Given the description of an element on the screen output the (x, y) to click on. 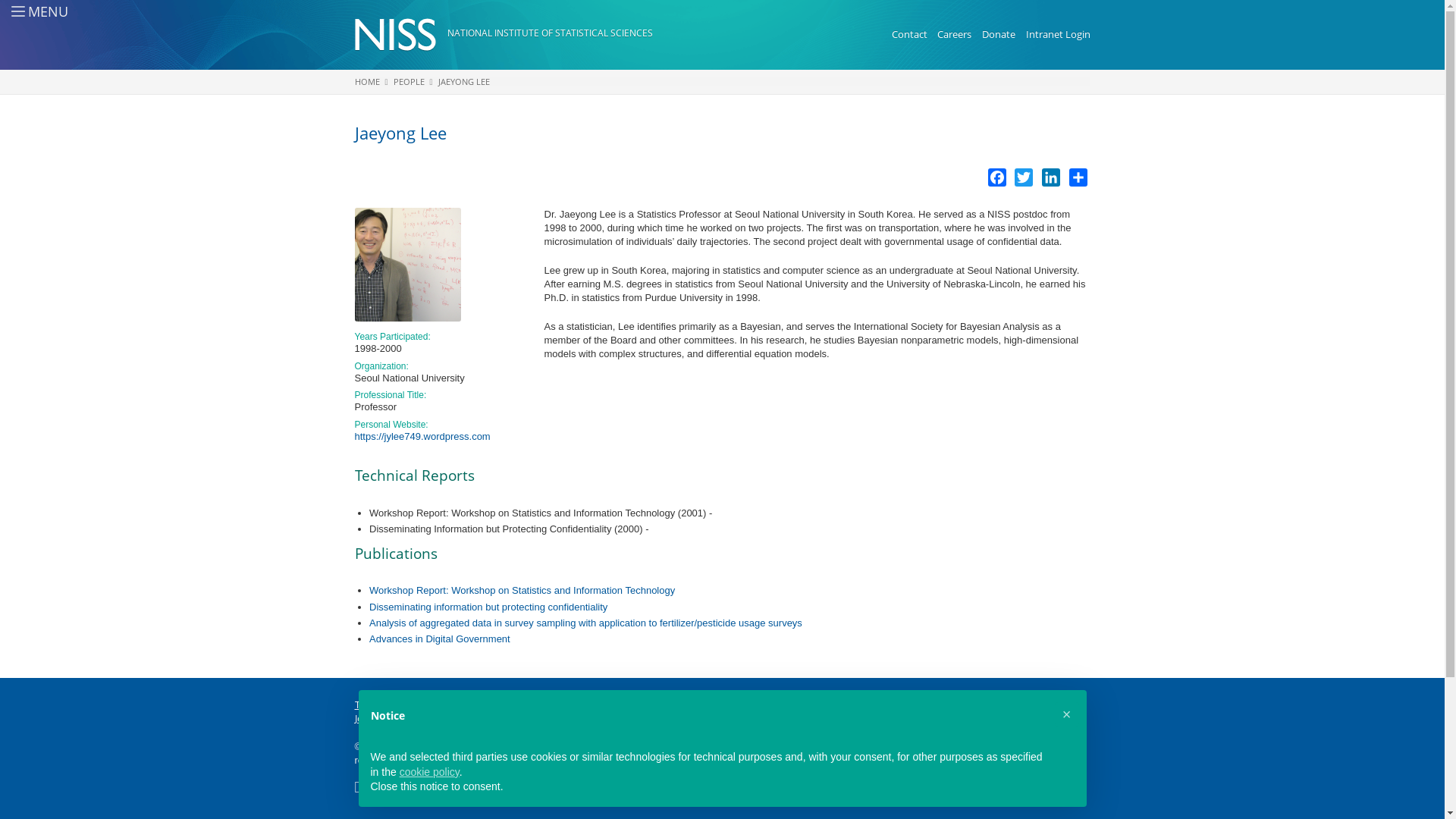
National Institute of Statistical Sciences Home (400, 34)
MENU (30, 11)
Home (549, 33)
